Given the description of an element on the screen output the (x, y) to click on. 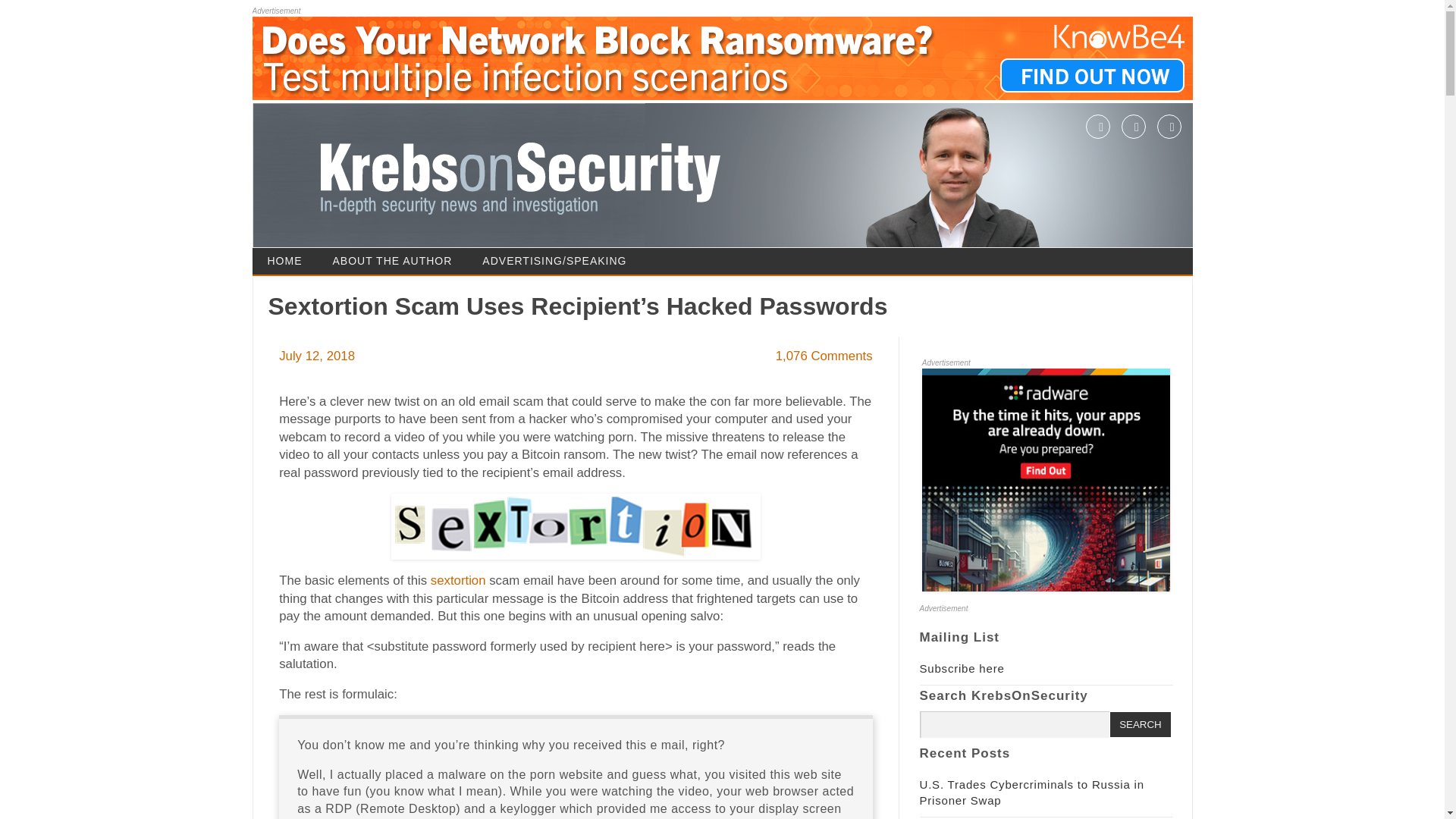
HOME (284, 261)
sextortion (458, 580)
Skip to content (764, 253)
Skip to content (764, 253)
Search (1139, 724)
1,076 Comments (824, 355)
ABOUT THE AUTHOR (392, 261)
